Given the description of an element on the screen output the (x, y) to click on. 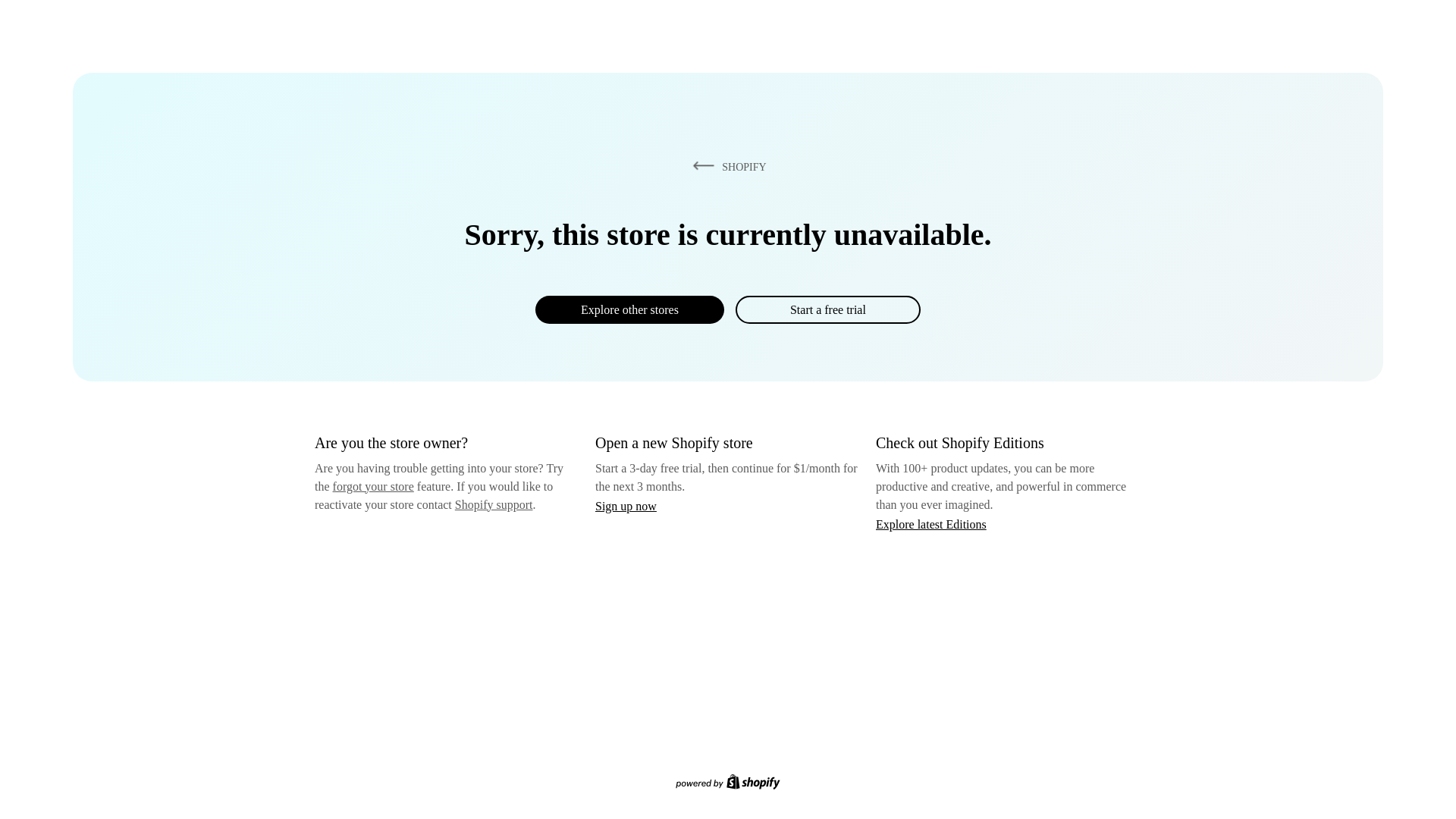
Sign up now (625, 505)
Shopify support (493, 504)
Explore other stores (629, 309)
Explore latest Editions (931, 523)
forgot your store (373, 486)
SHOPIFY (726, 166)
Start a free trial (827, 309)
